Given the description of an element on the screen output the (x, y) to click on. 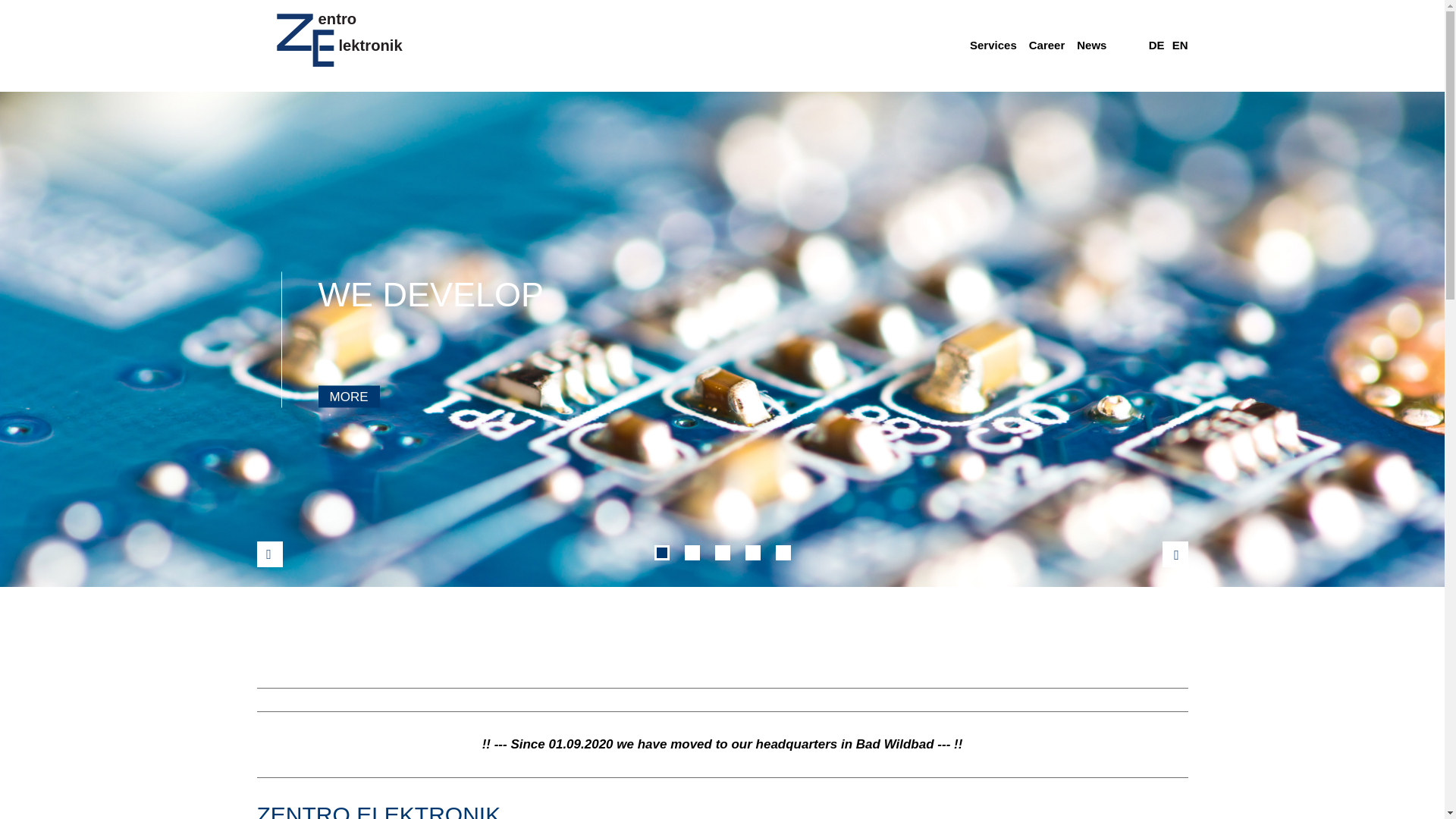
2 (691, 552)
Services (992, 52)
1 (660, 552)
4 (752, 552)
MORE (349, 395)
DE (1156, 44)
Services (992, 52)
5 (782, 552)
3 (721, 552)
EN (1180, 44)
